Given the description of an element on the screen output the (x, y) to click on. 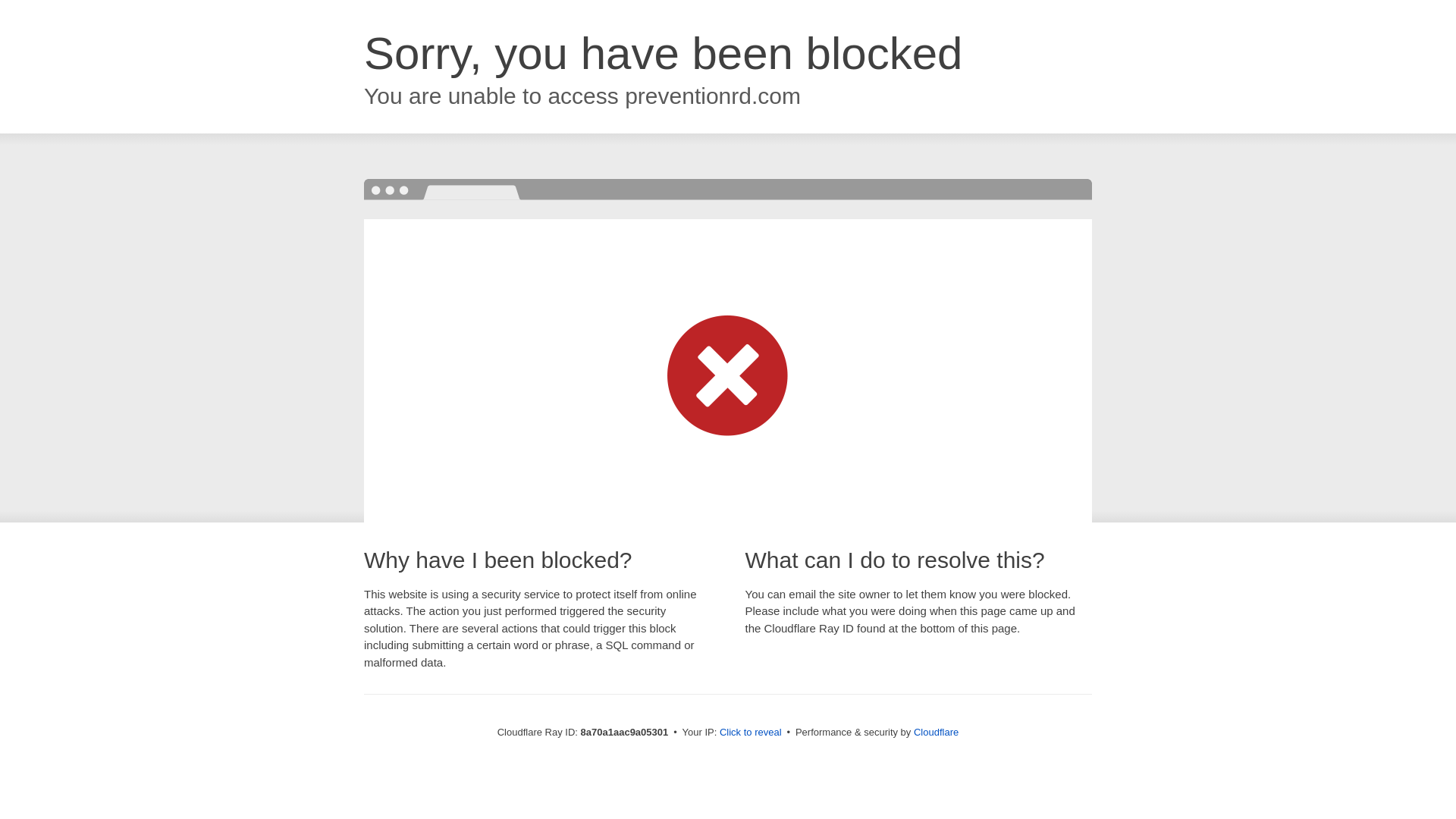
Cloudflare (936, 731)
Click to reveal (750, 732)
